Given the description of an element on the screen output the (x, y) to click on. 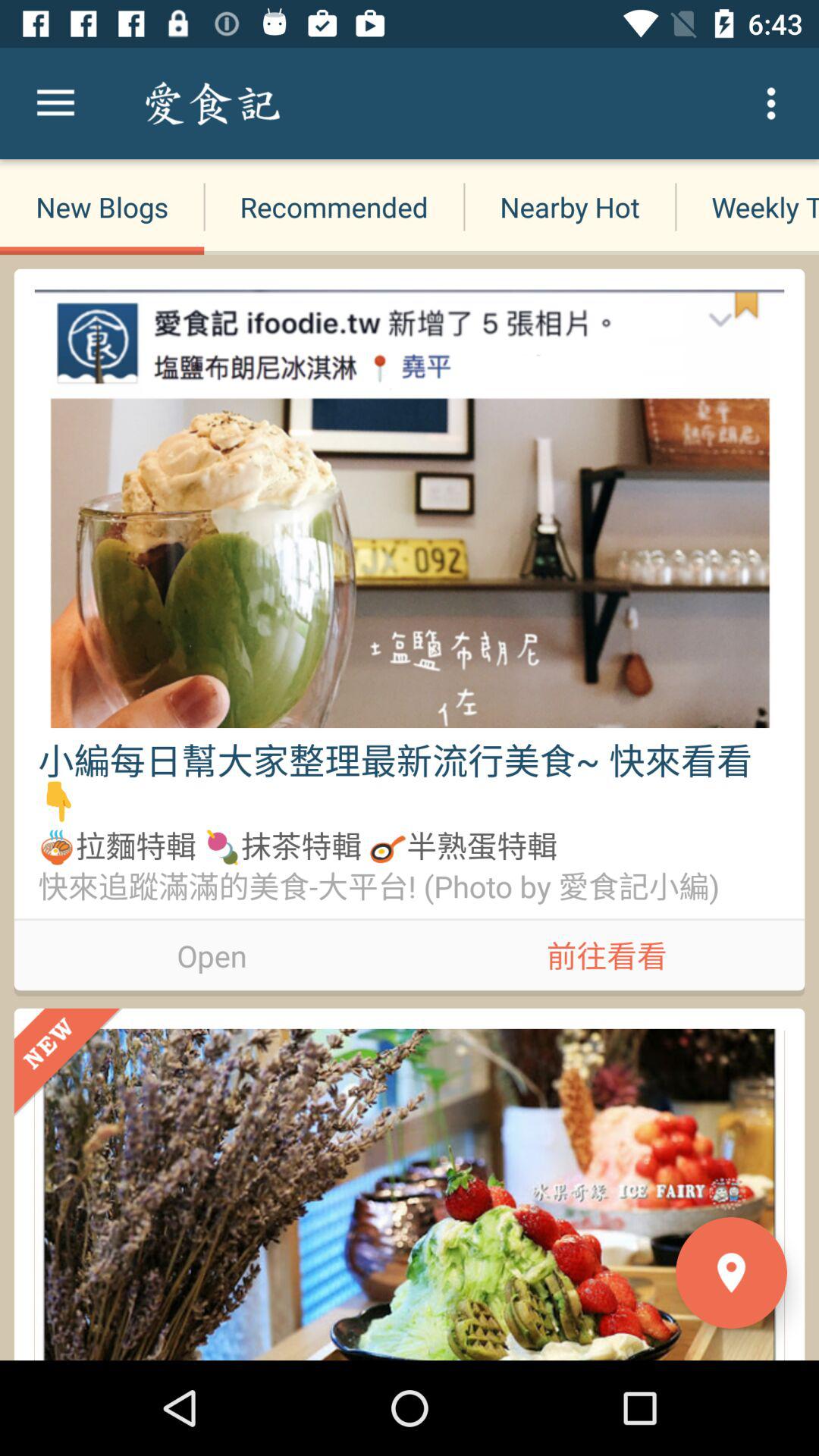
launch the item below the search blogs item (334, 206)
